Given the description of an element on the screen output the (x, y) to click on. 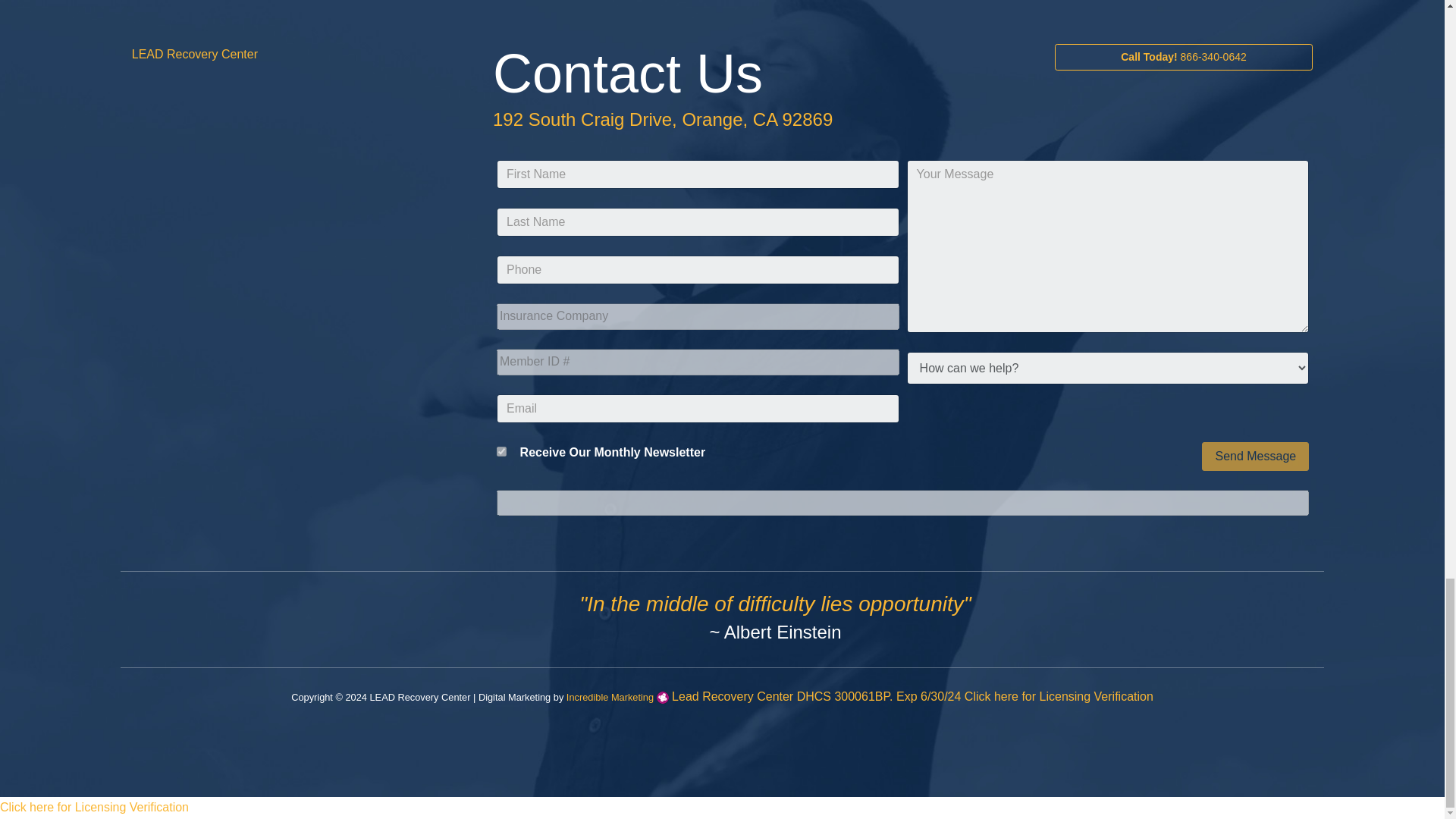
1 (501, 451)
Send Message (1255, 456)
